Given the description of an element on the screen output the (x, y) to click on. 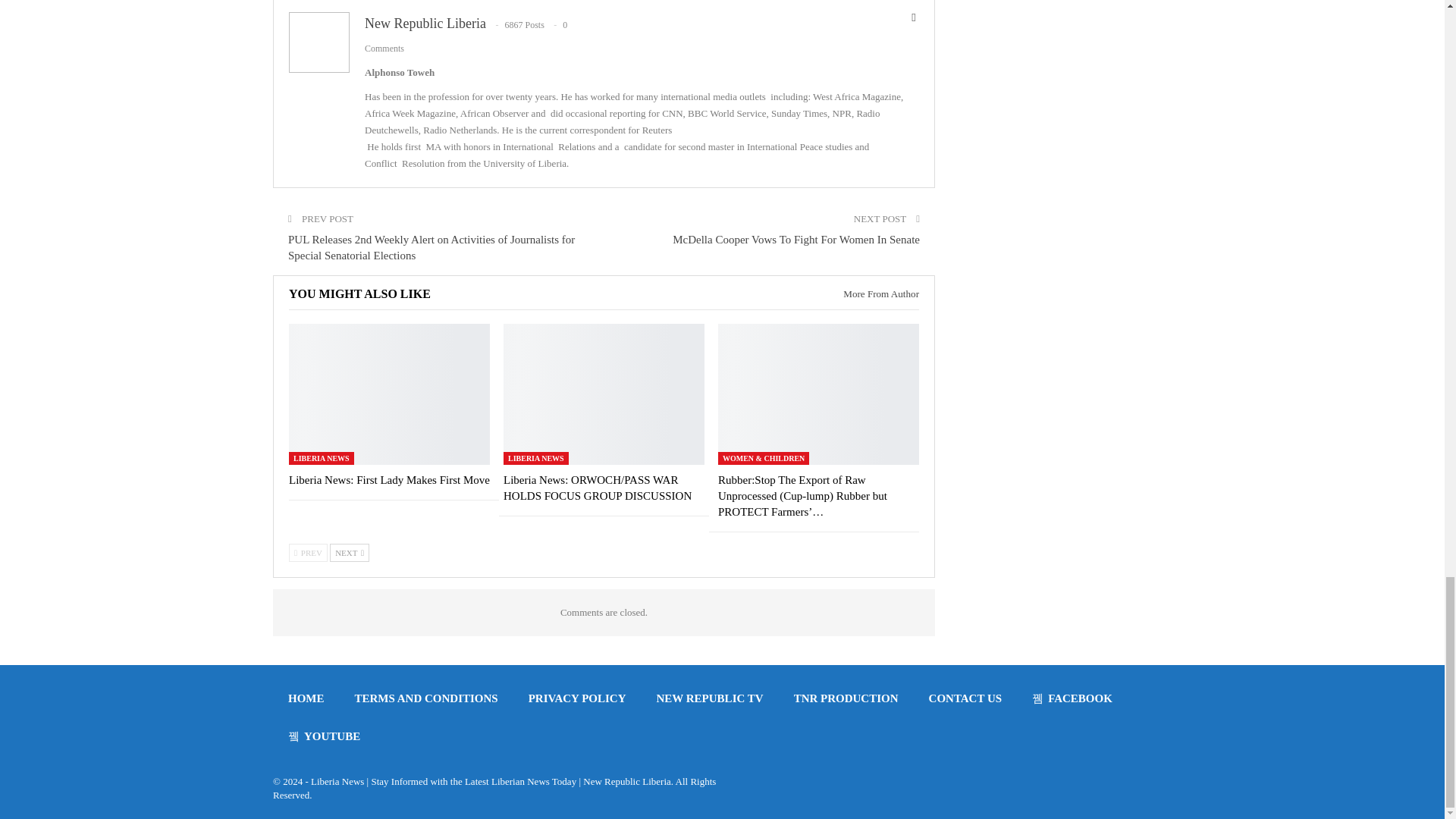
Next (349, 552)
Liberia News: First Lady Makes First Move (388, 480)
Previous (307, 552)
Liberia News: First Lady Makes First Move (388, 393)
